Given the description of an element on the screen output the (x, y) to click on. 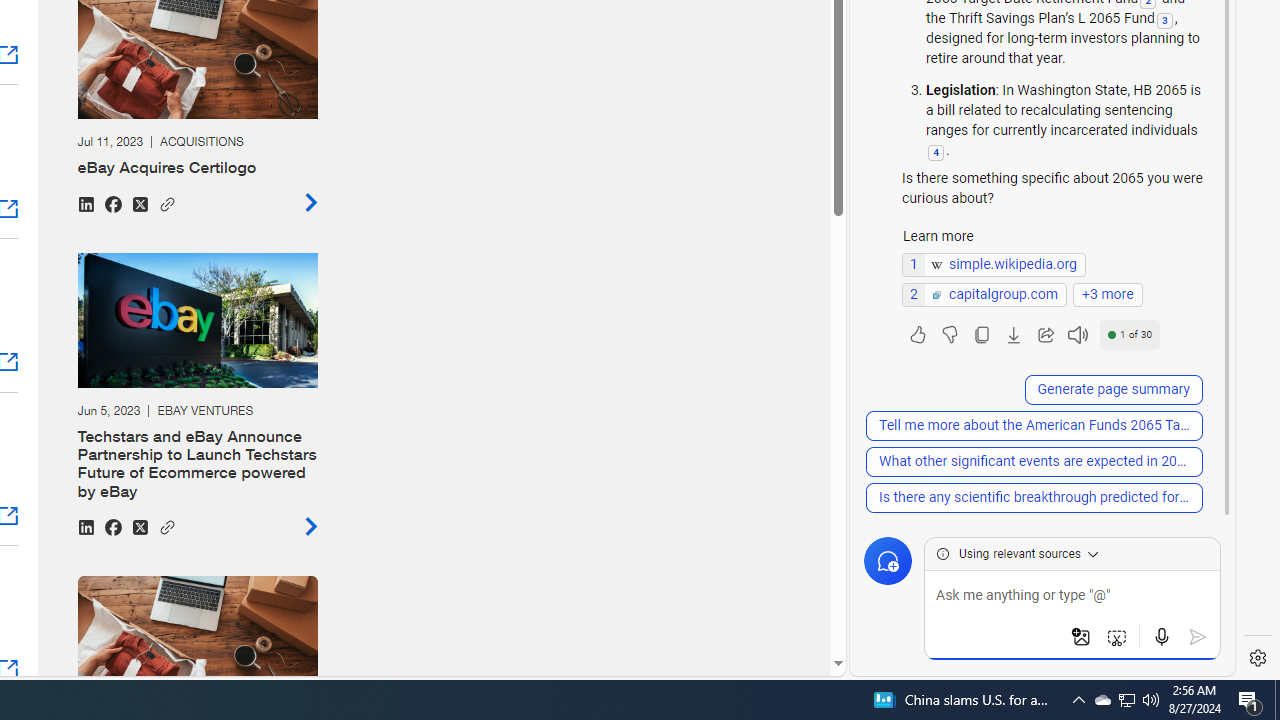
Share on X (Twitter) (139, 526)
Copy link to clipboard (166, 524)
Share on LinkedIn (85, 526)
Share on Facebook (112, 526)
